Given the description of an element on the screen output the (x, y) to click on. 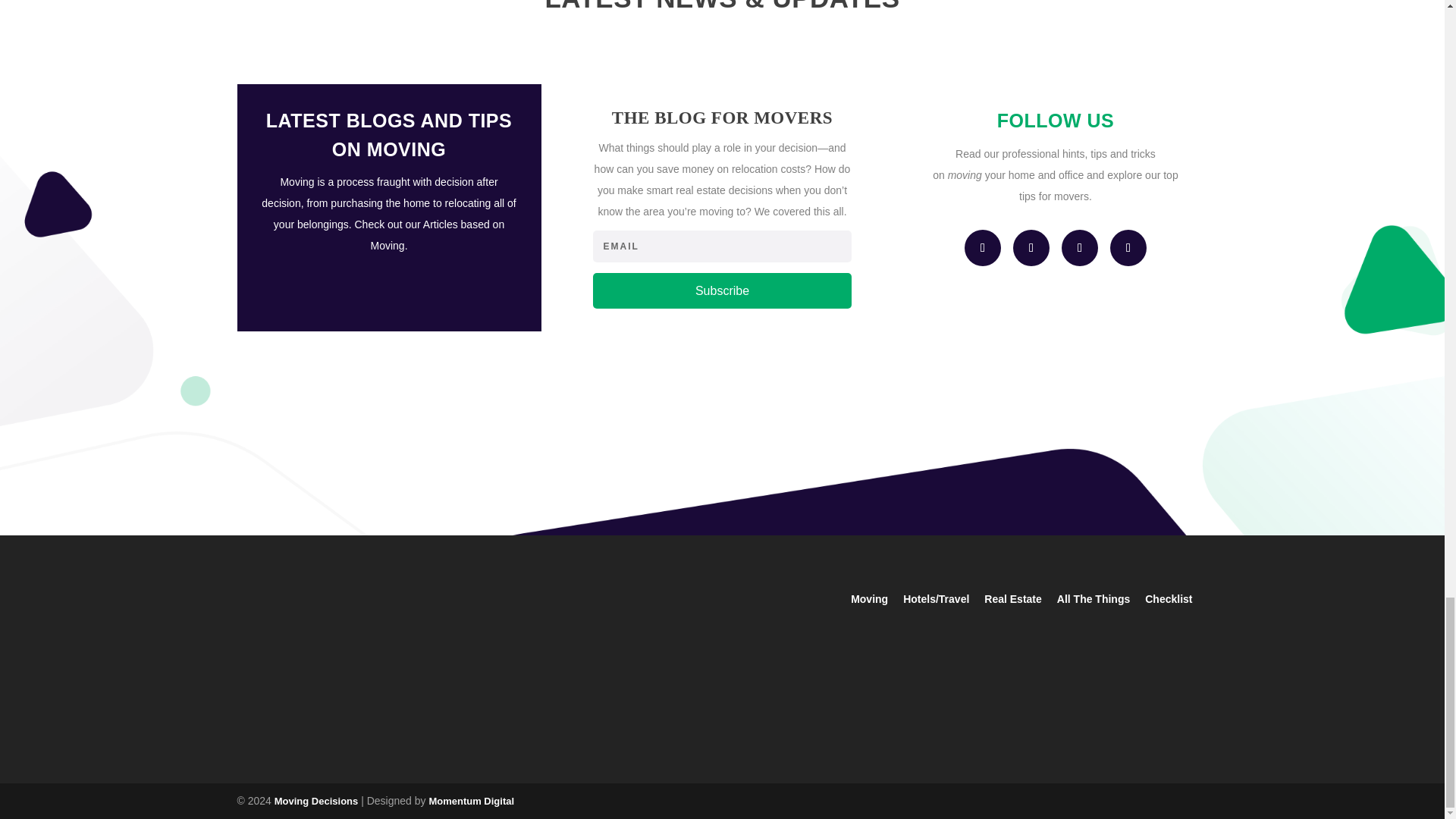
Follow on Youtube (1128, 248)
Follow on Facebook (982, 248)
Follow on Twitter (1079, 248)
Follow on Instagram (1031, 248)
